Given the description of an element on the screen output the (x, y) to click on. 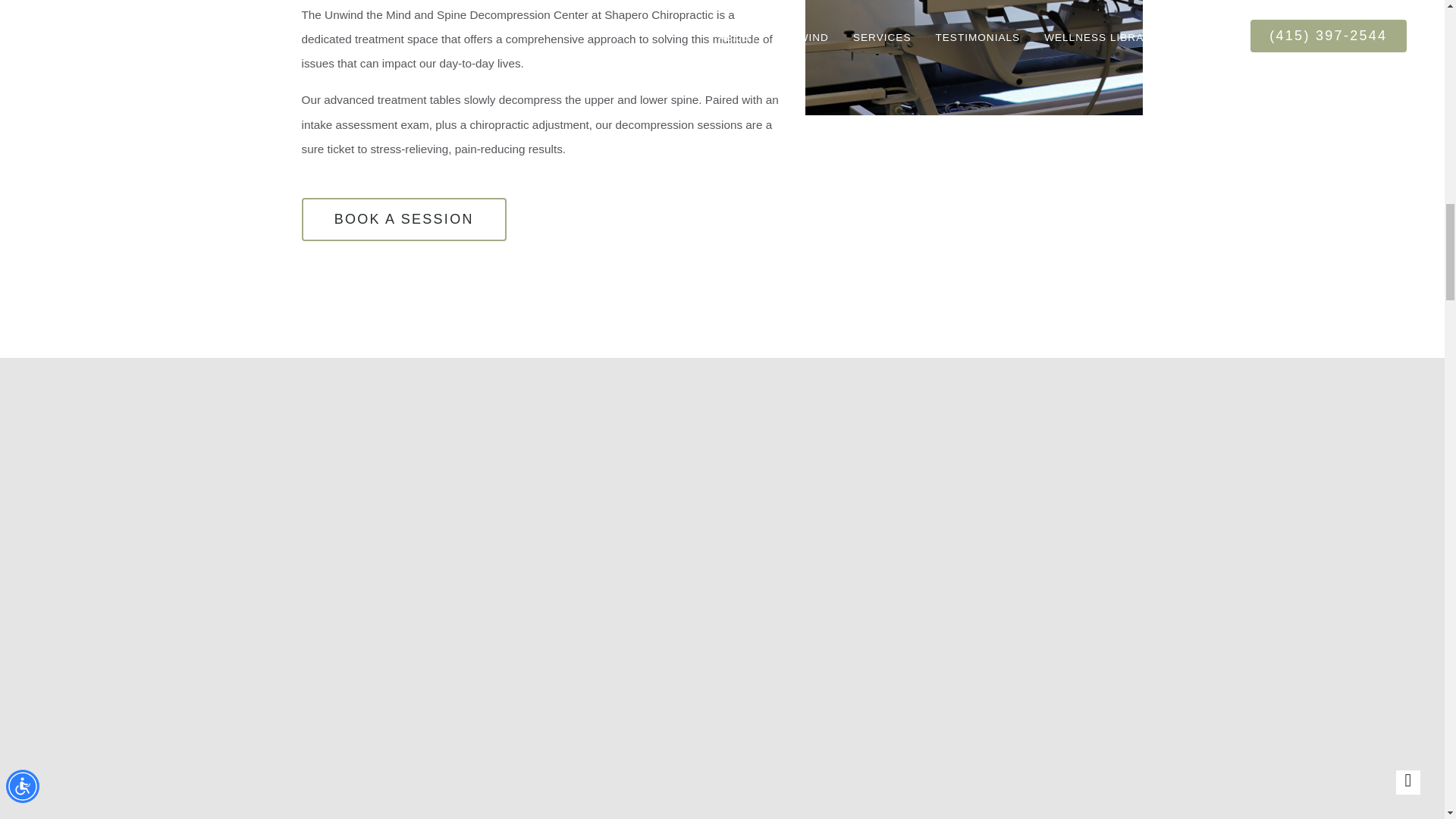
BOOK A SESSION (403, 219)
